Given the description of an element on the screen output the (x, y) to click on. 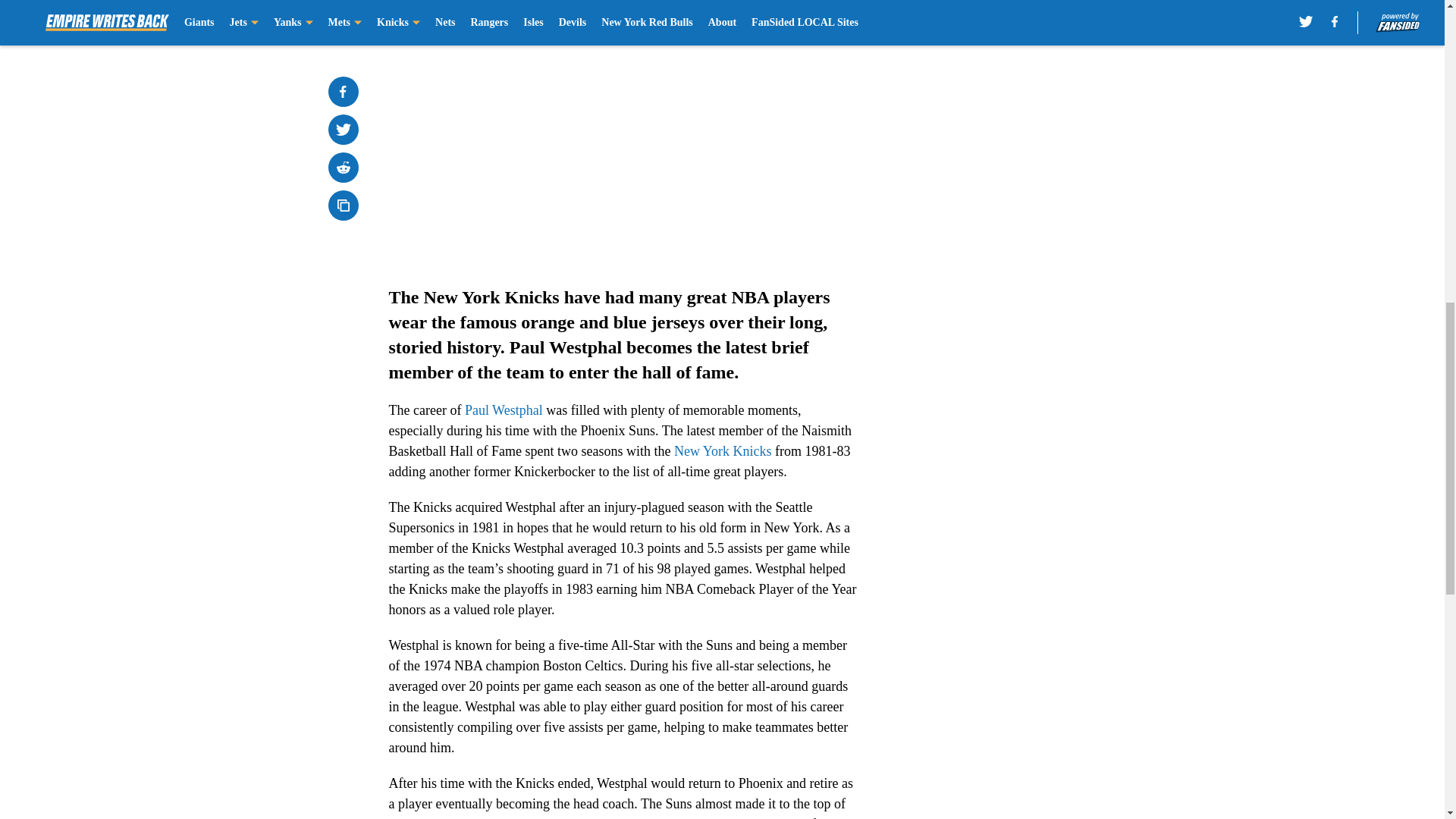
New York Knicks (722, 450)
Kevin Johnson (767, 817)
Charles Barkley (654, 817)
Paul Westphal (501, 409)
